Given the description of an element on the screen output the (x, y) to click on. 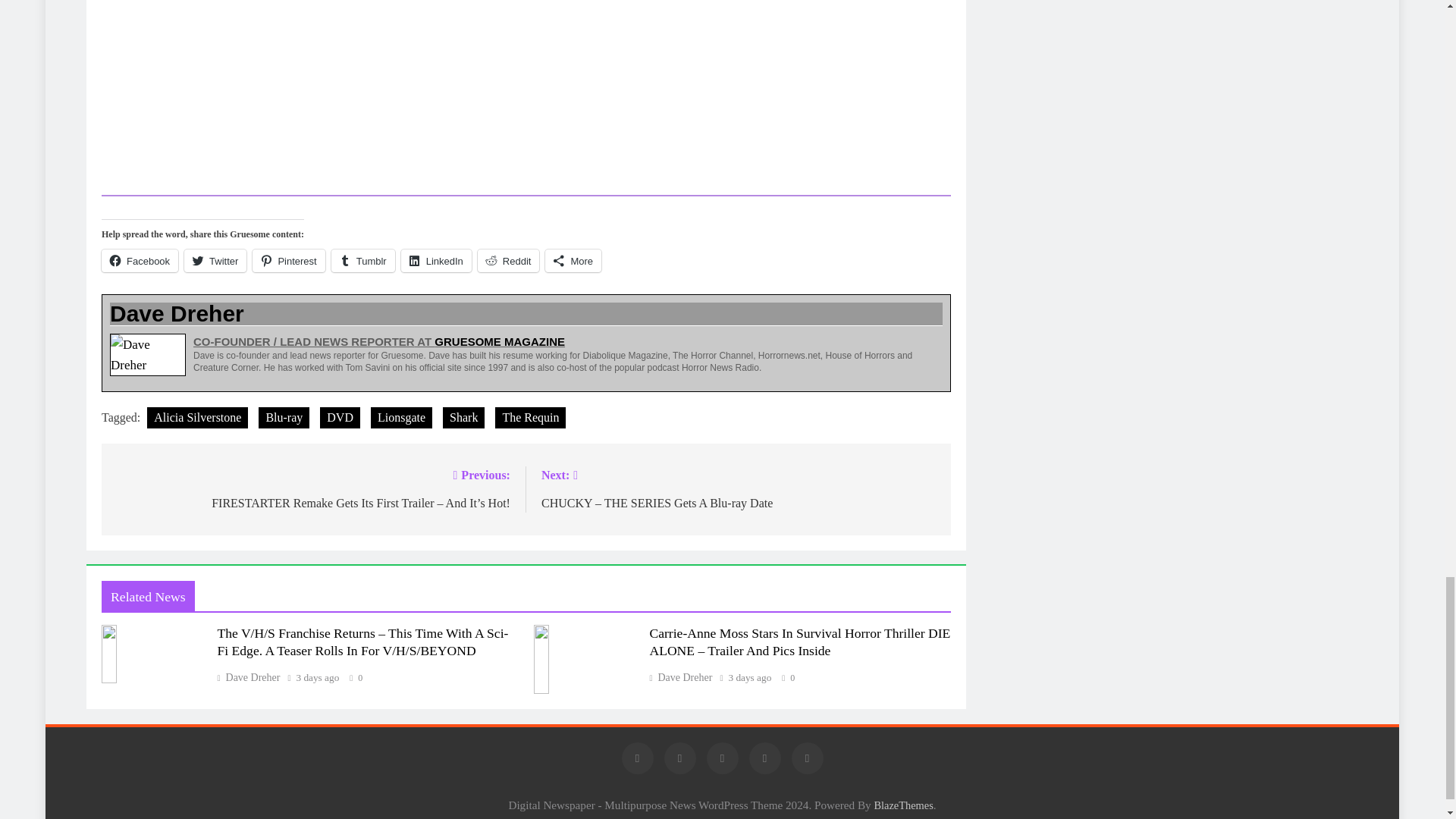
Click to share on LinkedIn (436, 260)
Click to share on Twitter (215, 260)
Click to share on Facebook (139, 260)
Click to share on Pinterest (287, 260)
Click to share on Tumblr (362, 260)
Click to share on Reddit (508, 260)
